Given the description of an element on the screen output the (x, y) to click on. 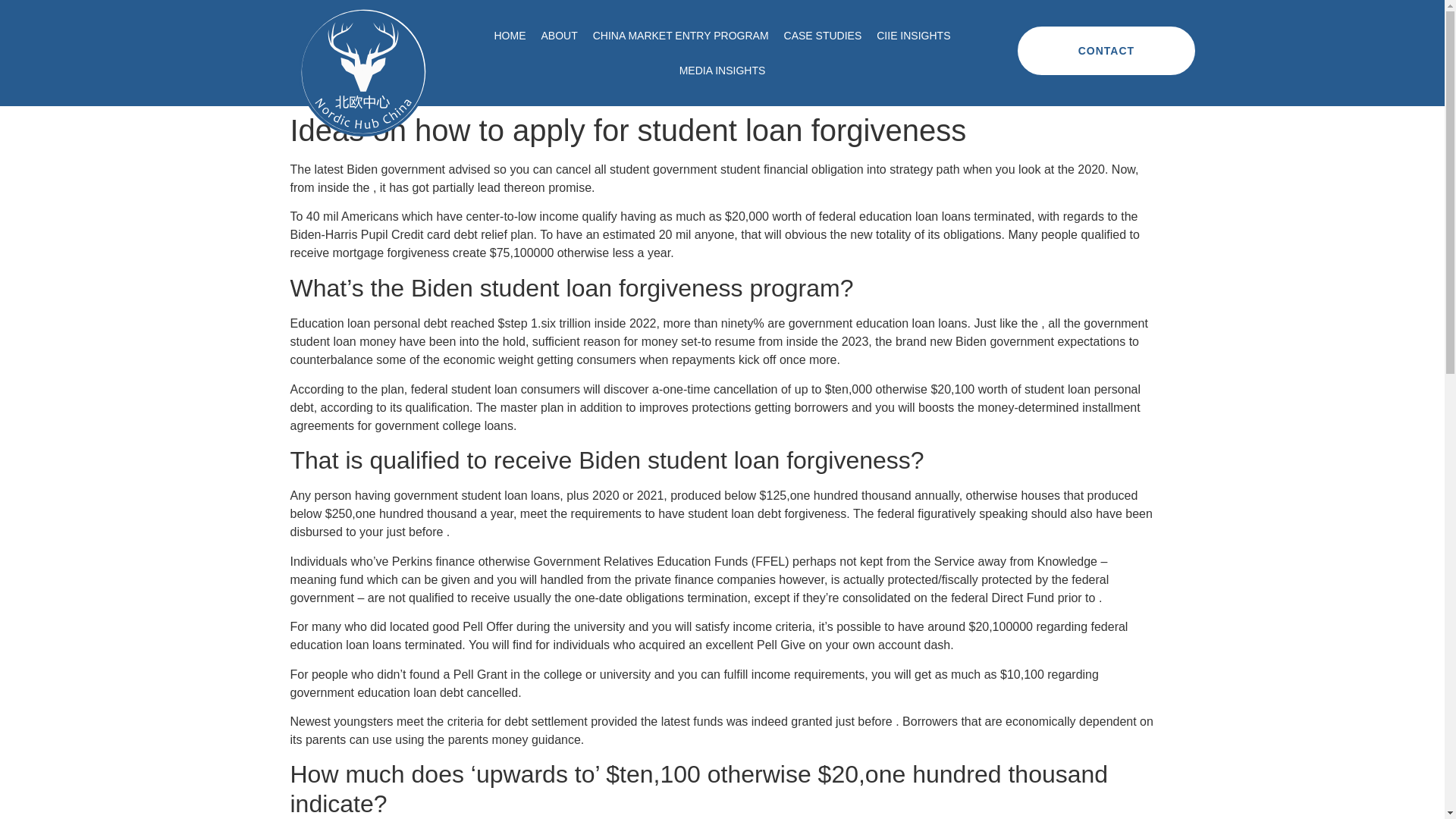
CHINA MARKET ENTRY PROGRAM (680, 35)
ABOUT (558, 35)
HOME (509, 35)
CIIE INSIGHTS (913, 35)
MEDIA INSIGHTS (722, 70)
CONTACT (1105, 50)
CASE STUDIES (822, 35)
